Given the description of an element on the screen output the (x, y) to click on. 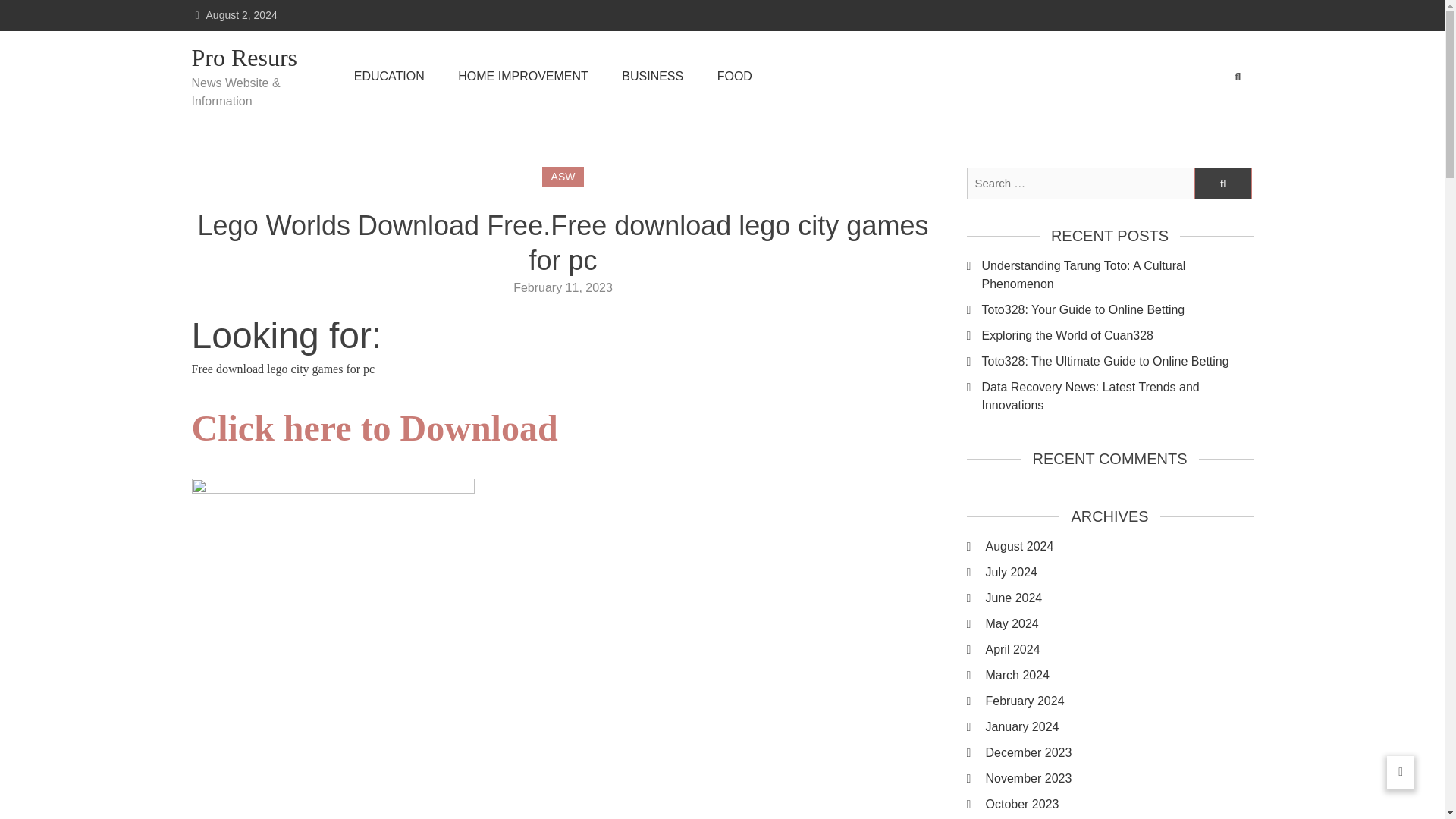
BUSINESS (651, 76)
December 2023 (1119, 752)
July 2024 (1119, 572)
HOME IMPROVEMENT (523, 76)
August 2024 (1119, 546)
Click here to Download (373, 436)
February 2024 (1119, 701)
Exploring the World of Cuan328 (1116, 335)
Toto328: Your Guide to Online Betting (1116, 310)
Understanding Tarung Toto: A Cultural Phenomenon (1116, 275)
EDUCATION (389, 76)
June 2024 (1119, 597)
Data Recovery News: Latest Trends and Innovations (1116, 396)
Toto328: The Ultimate Guide to Online Betting (1116, 361)
April 2024 (1119, 649)
